Given the description of an element on the screen output the (x, y) to click on. 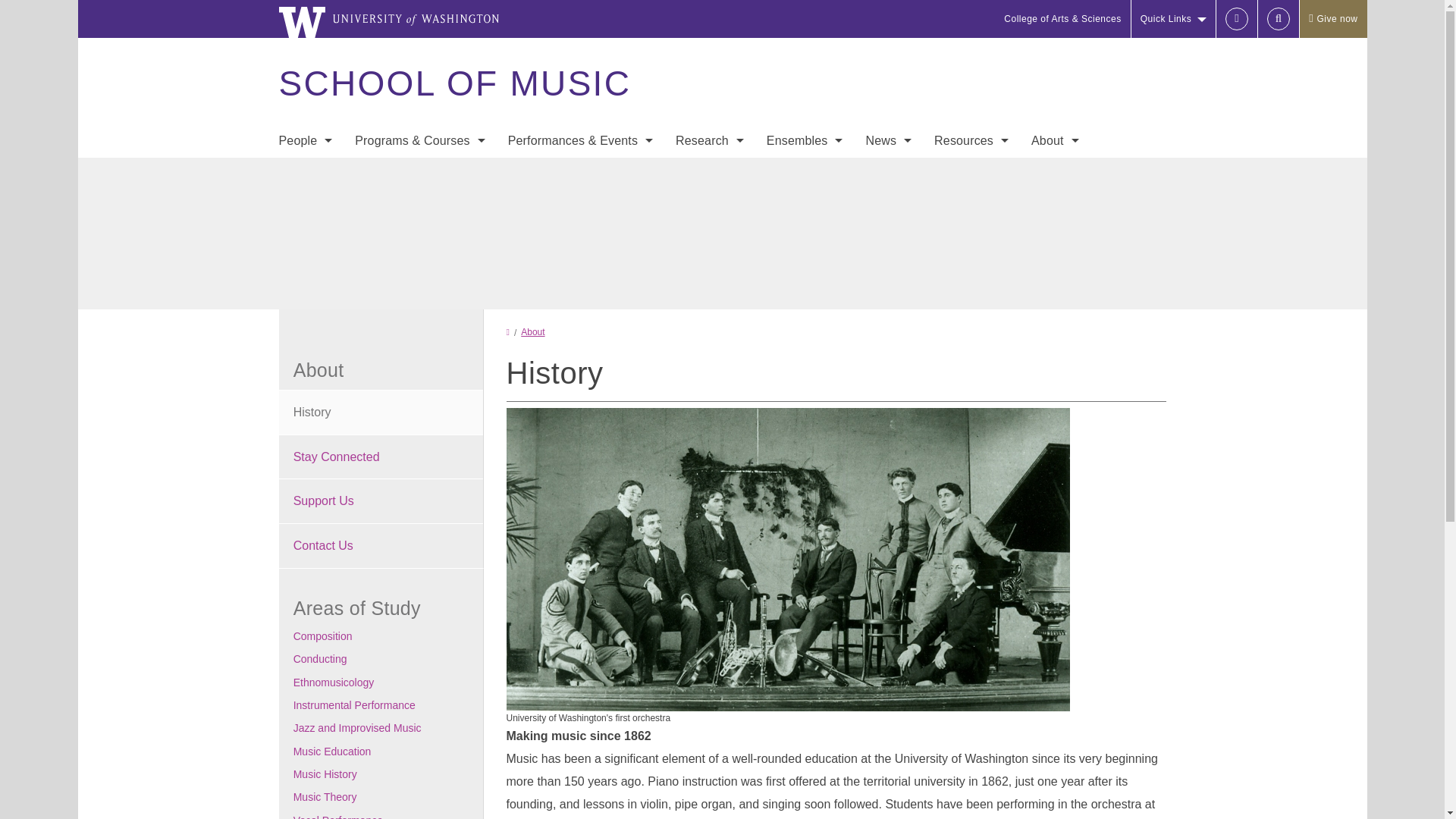
People (304, 140)
Staff (304, 203)
Hire a Musician (304, 263)
 Give now (1332, 18)
School of Music Home (454, 83)
Alumni (304, 294)
SCHOOL OF MUSIC (454, 83)
Areas of Study (419, 173)
Faculty (304, 173)
